Given the description of an element on the screen output the (x, y) to click on. 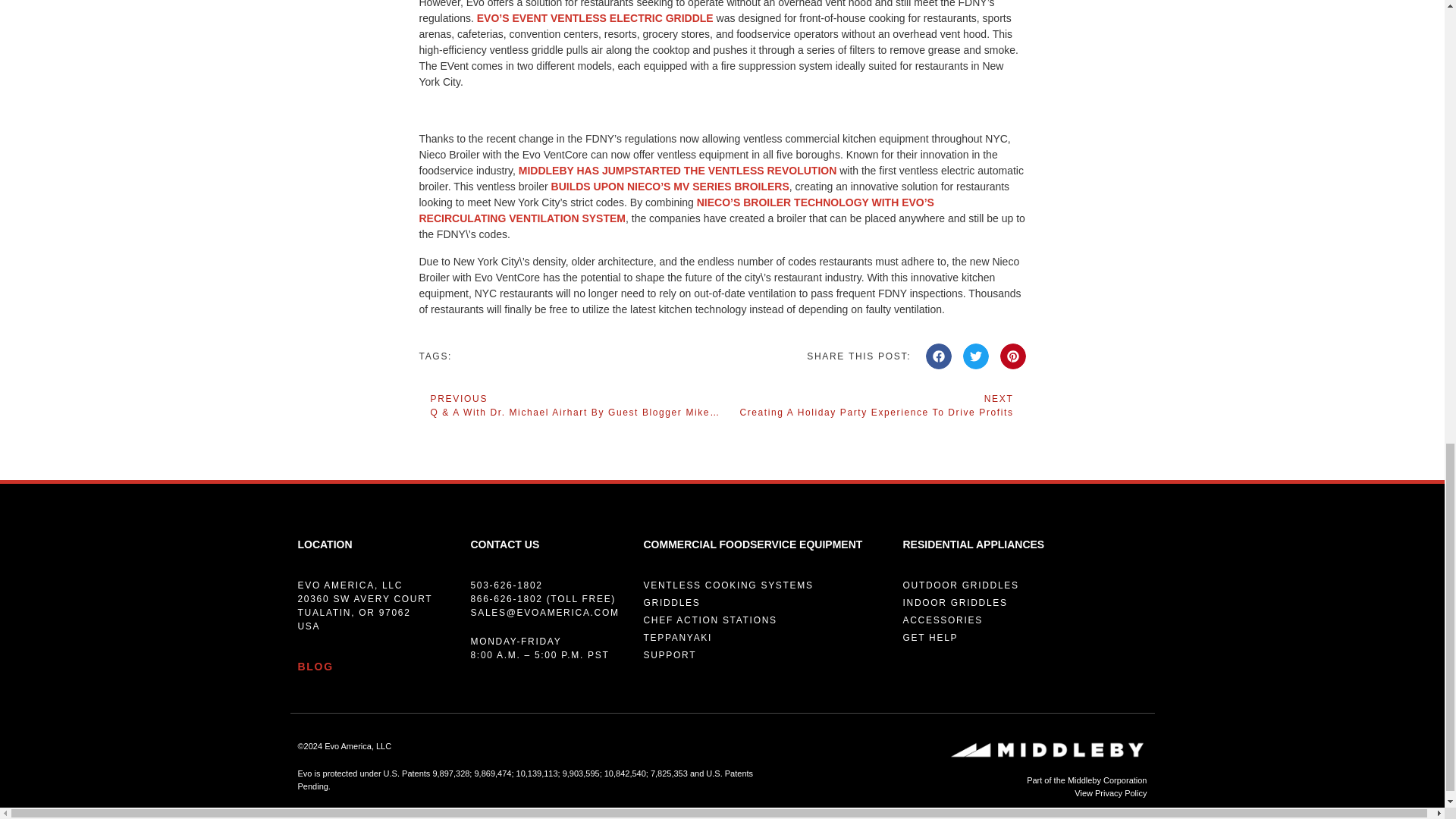
SUPPORT (764, 654)
BLOG (315, 666)
VENTLESS COOKING SYSTEMS (764, 585)
View Privacy Policy (873, 405)
TEPPANYAKI (968, 793)
GET HELP (764, 637)
ACCESSORIES (1024, 637)
OUTDOOR GRIDDLES (1024, 620)
INDOOR GRIDDLES (1024, 585)
CHEF ACTION STATIONS (1024, 602)
GRIDDLES (764, 620)
MIDDLEBY HAS JUMPSTARTED THE VENTLESS REVOLUTION (764, 602)
Part of the Middleby Corporation (677, 170)
